Given the description of an element on the screen output the (x, y) to click on. 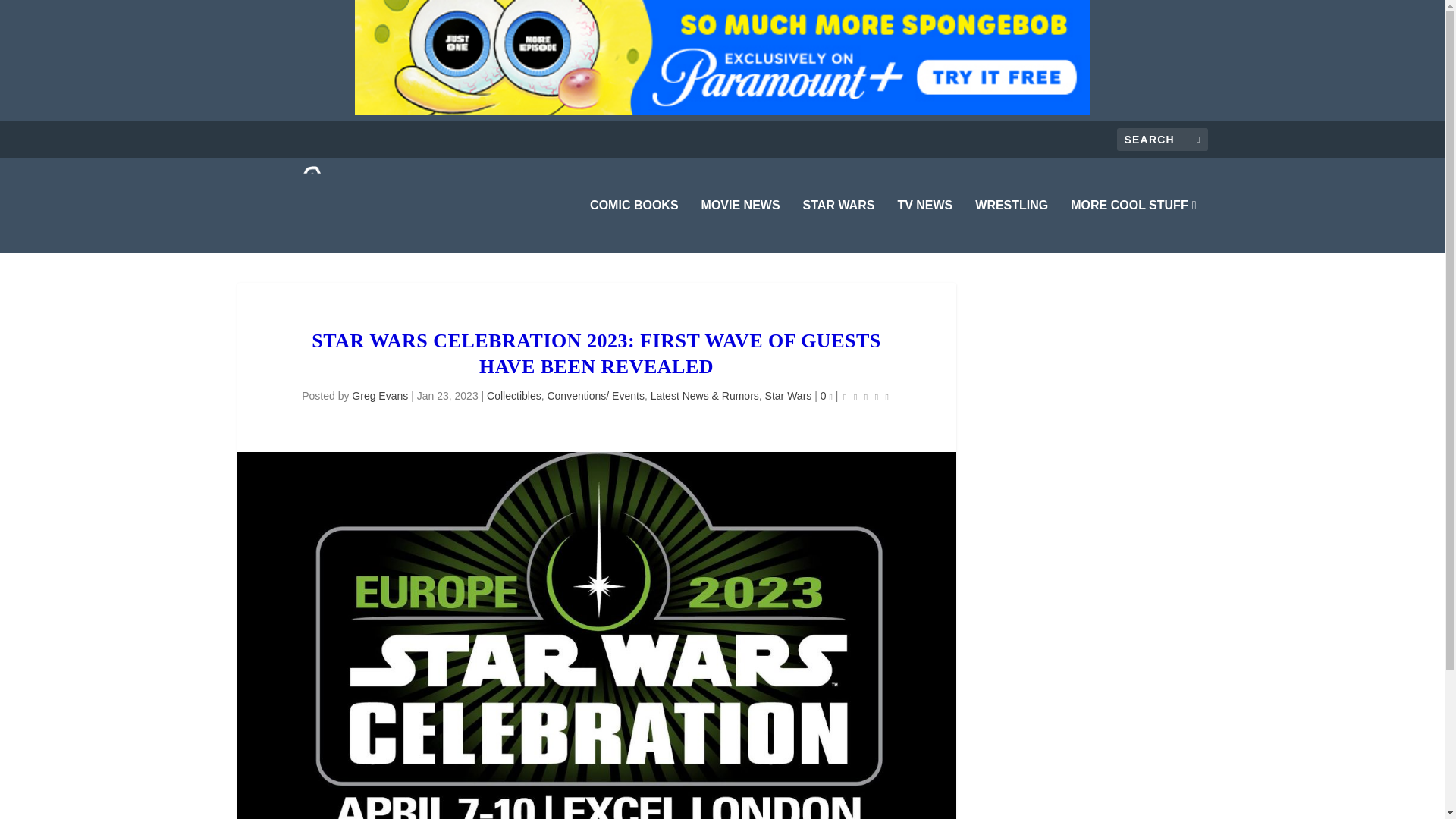
MOVIE NEWS (740, 225)
Greg Evans (379, 395)
COMIC BOOKS (633, 225)
Posts by Greg Evans (379, 395)
0 (826, 395)
TV NEWS (924, 225)
Rating: 0.00 (866, 396)
Search for: (1161, 138)
STAR WARS (839, 225)
WRESTLING (1011, 225)
Collectibles (513, 395)
MORE COOL STUFF (1132, 225)
Star Wars (788, 395)
